Given the description of an element on the screen output the (x, y) to click on. 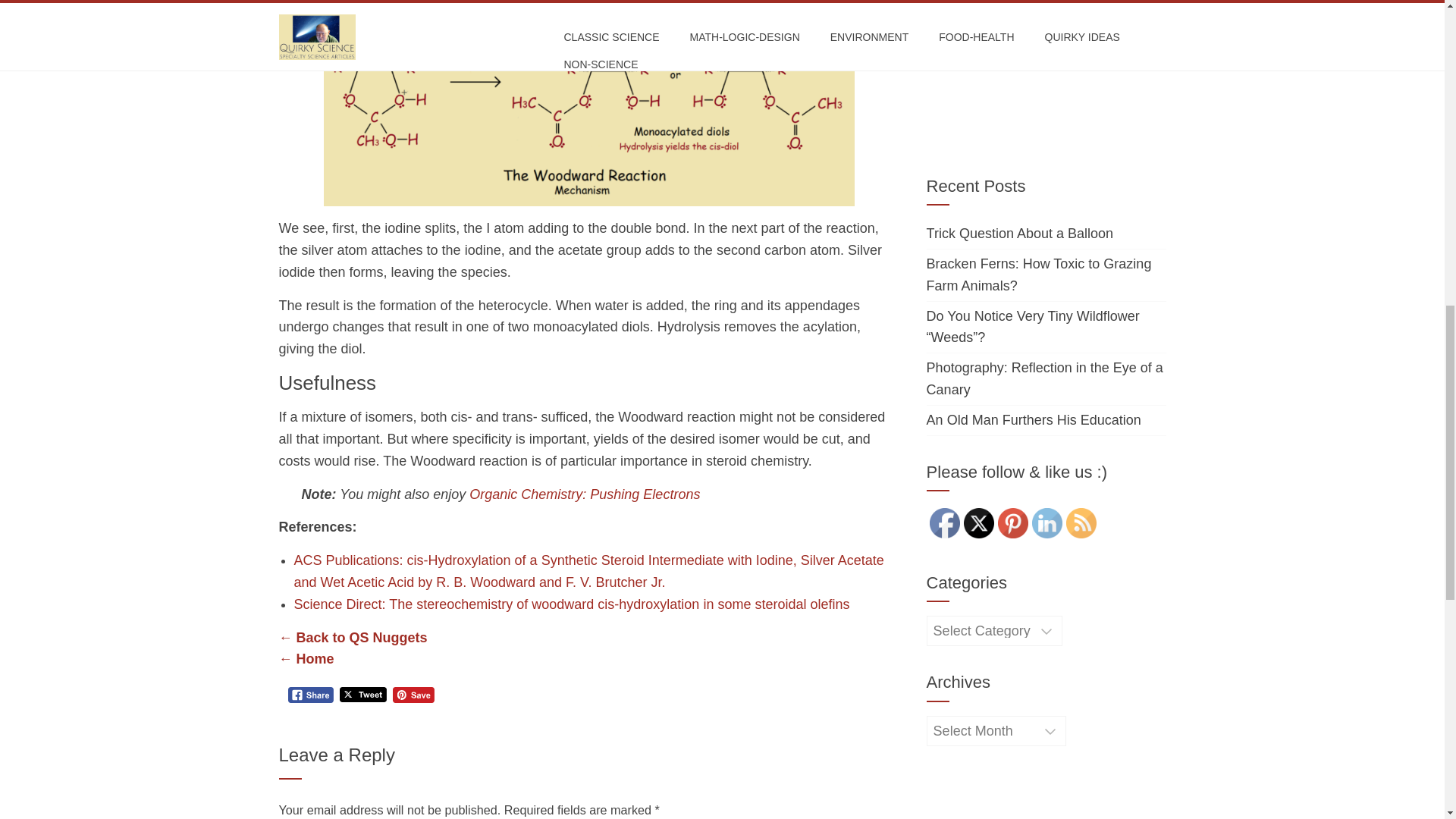
Tweet (363, 694)
Pinterest (1012, 522)
Organic Chemistry: Pushing Electrons (584, 494)
Facebook Share (311, 694)
Facebook (944, 522)
Photography: Reflection in the Eye of a Canary (1044, 378)
Advertisement (1046, 71)
An Old Man Furthers His Education (1033, 419)
Twitter (978, 522)
Pin Share (413, 694)
Bracken Ferns: How Toxic to Grazing Farm Animals? (1038, 274)
Trick Question About a Balloon (1019, 233)
